Given the description of an element on the screen output the (x, y) to click on. 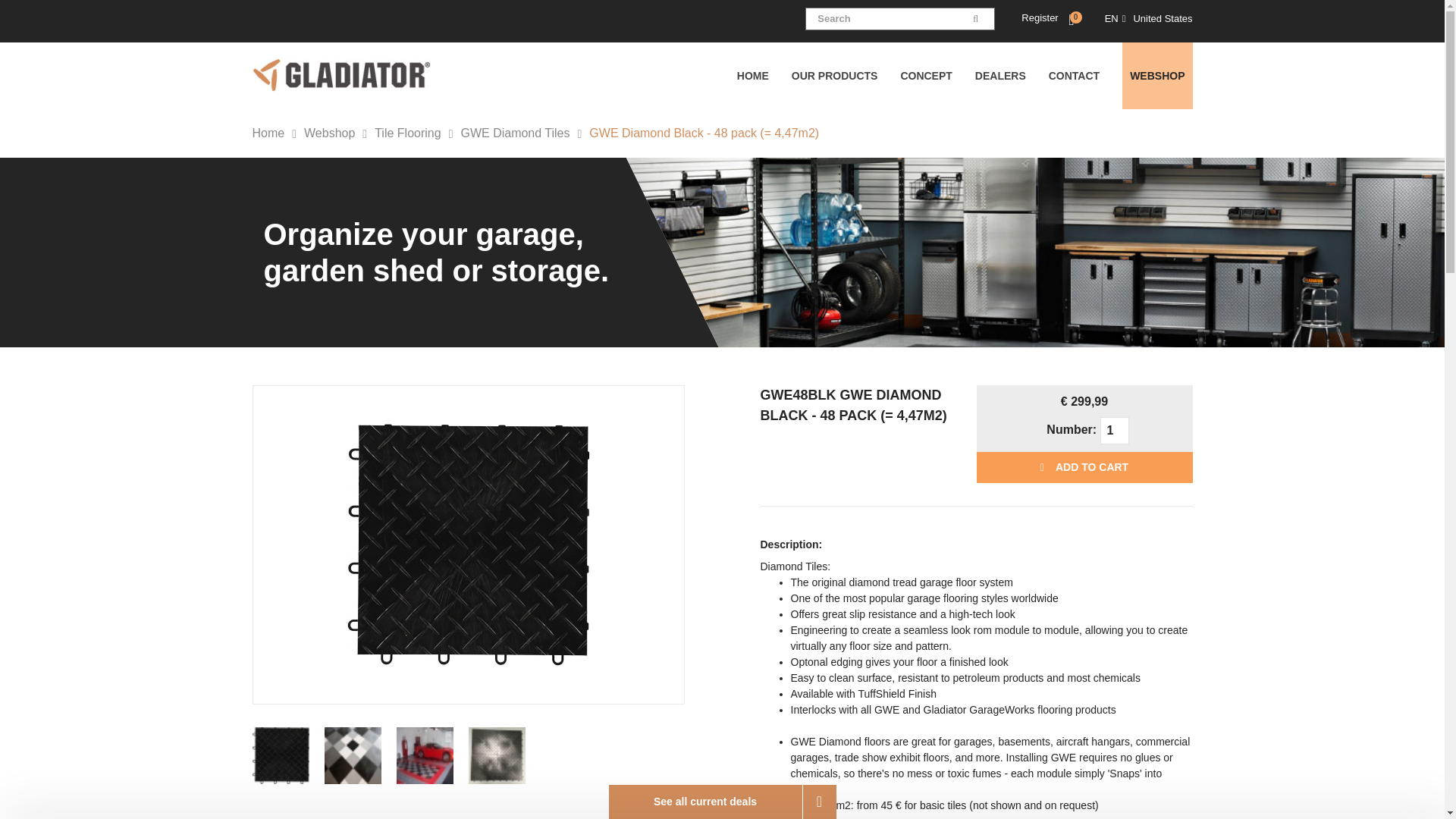
HOME (764, 75)
Home (277, 132)
Webshop (339, 132)
GWE Diamond Tiles (524, 132)
1 (1114, 430)
Contact (1085, 75)
GWE Diamond Tiles (524, 132)
Tile Flooring (417, 132)
0 (1071, 19)
Dealers (1011, 75)
OUR PRODUCTS (846, 75)
United States (1162, 18)
DEALERS (1011, 75)
EN (1111, 18)
CONCEPT (936, 75)
